Given the description of an element on the screen output the (x, y) to click on. 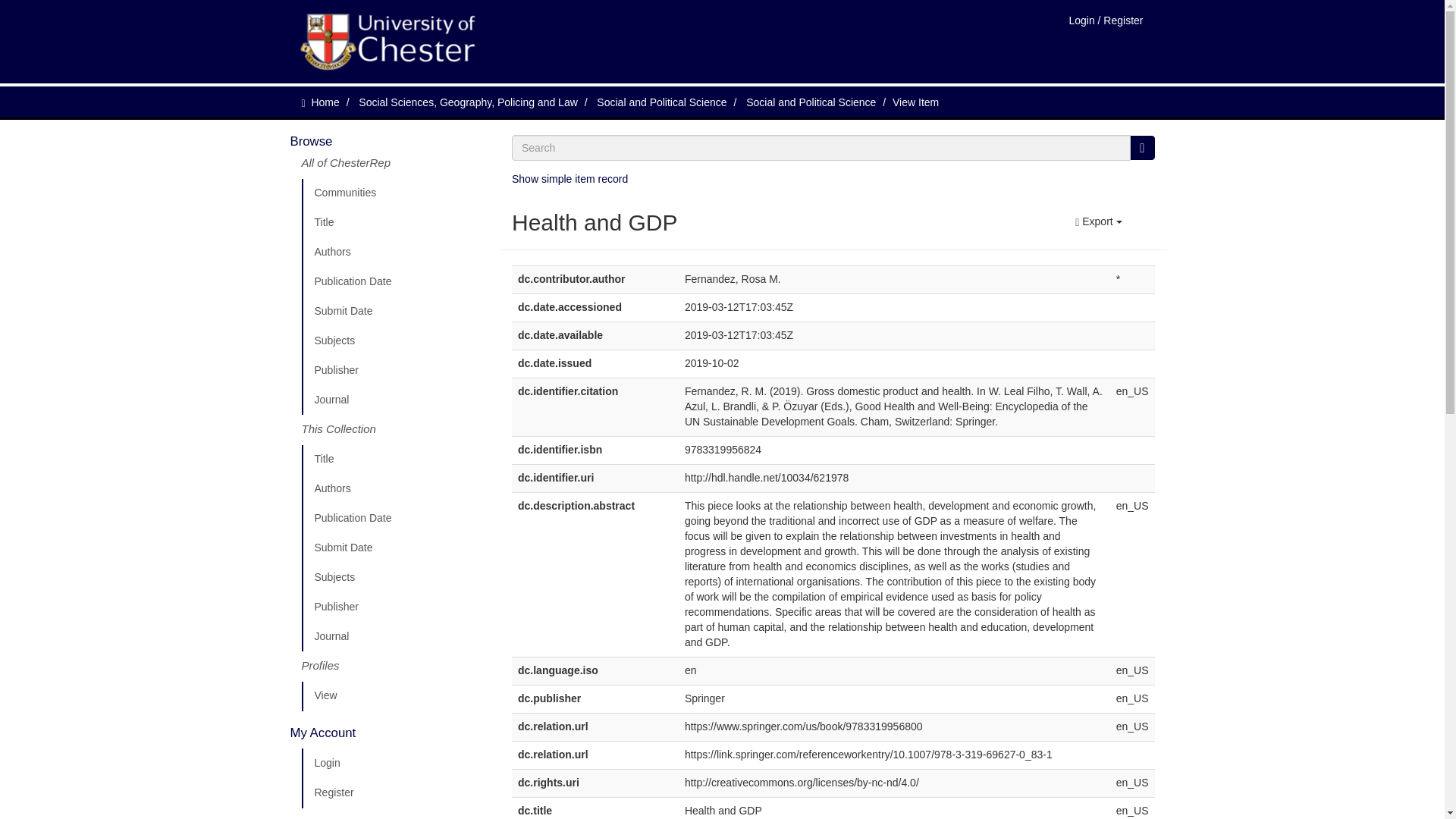
Publication Date (395, 518)
Submit Date (395, 548)
Communities (395, 193)
Journal (395, 636)
Title (395, 459)
All of ChesterRep (395, 167)
Title (395, 223)
Social and Political Science (810, 102)
Social and Political Science (661, 102)
Authors (395, 252)
This Collection (395, 429)
Publisher (395, 607)
Publisher (395, 370)
Subjects (395, 577)
Register (395, 793)
